Given the description of an element on the screen output the (x, y) to click on. 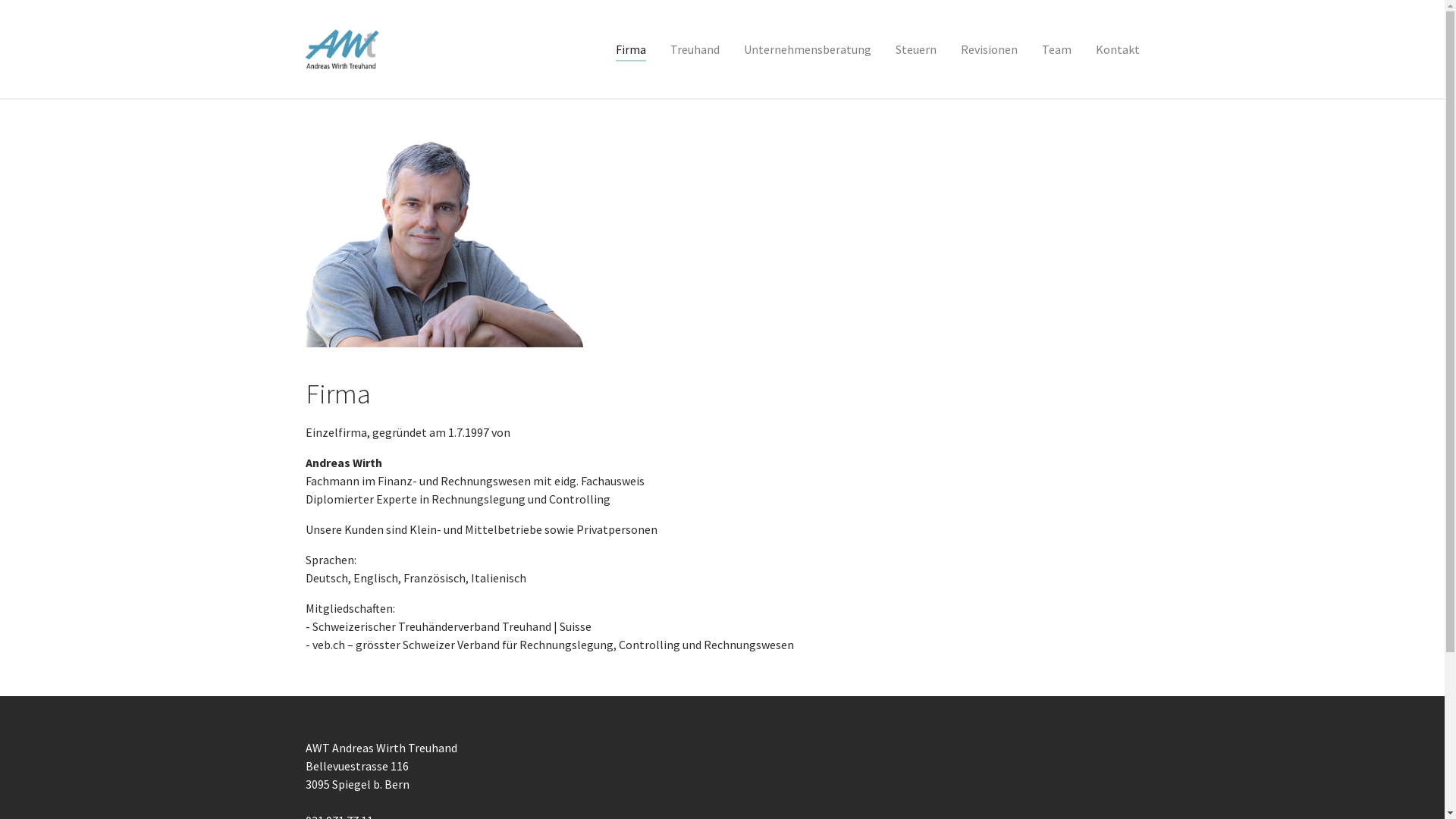
Firma
(current) Element type: text (630, 49)
Revisionen Element type: text (988, 49)
Team Element type: text (1056, 49)
Kontakt Element type: text (1116, 49)
Steuern Element type: text (914, 49)
Unternehmensberatung Element type: text (806, 49)
Treuhand Element type: text (694, 49)
